Given the description of an element on the screen output the (x, y) to click on. 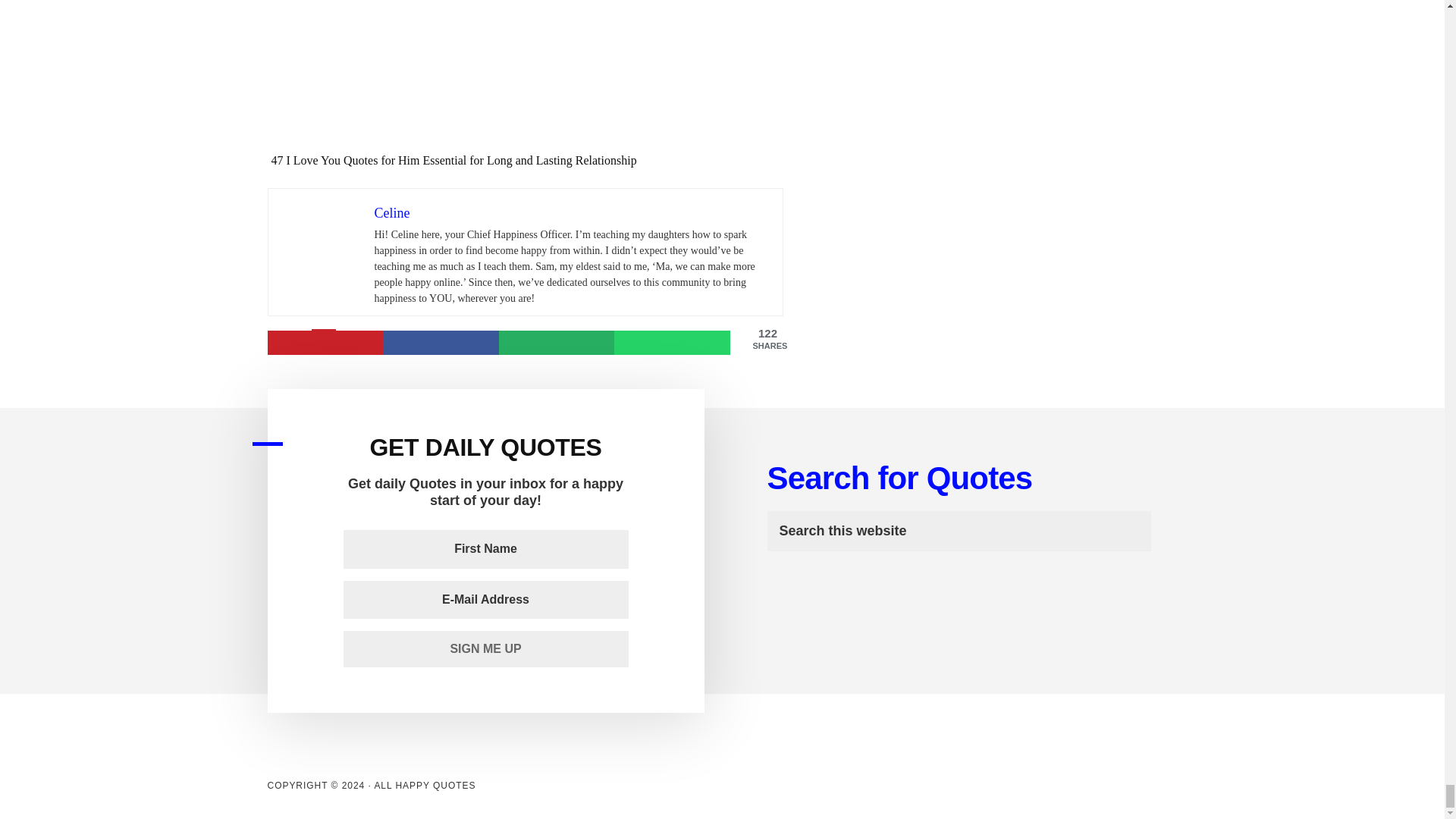
SIGN ME UP (484, 648)
